Given the description of an element on the screen output the (x, y) to click on. 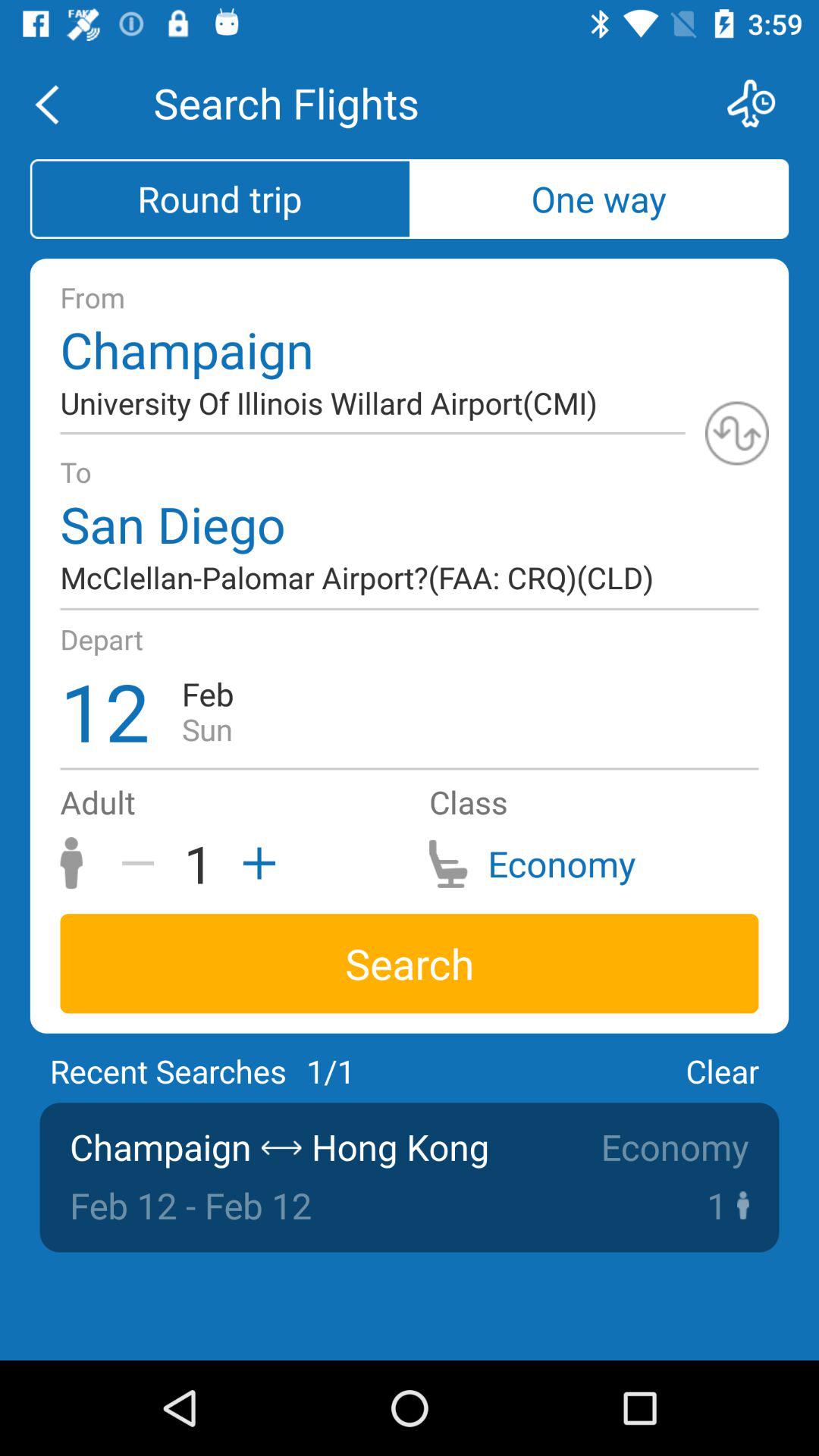
press icon next to the round trip icon (598, 198)
